Given the description of an element on the screen output the (x, y) to click on. 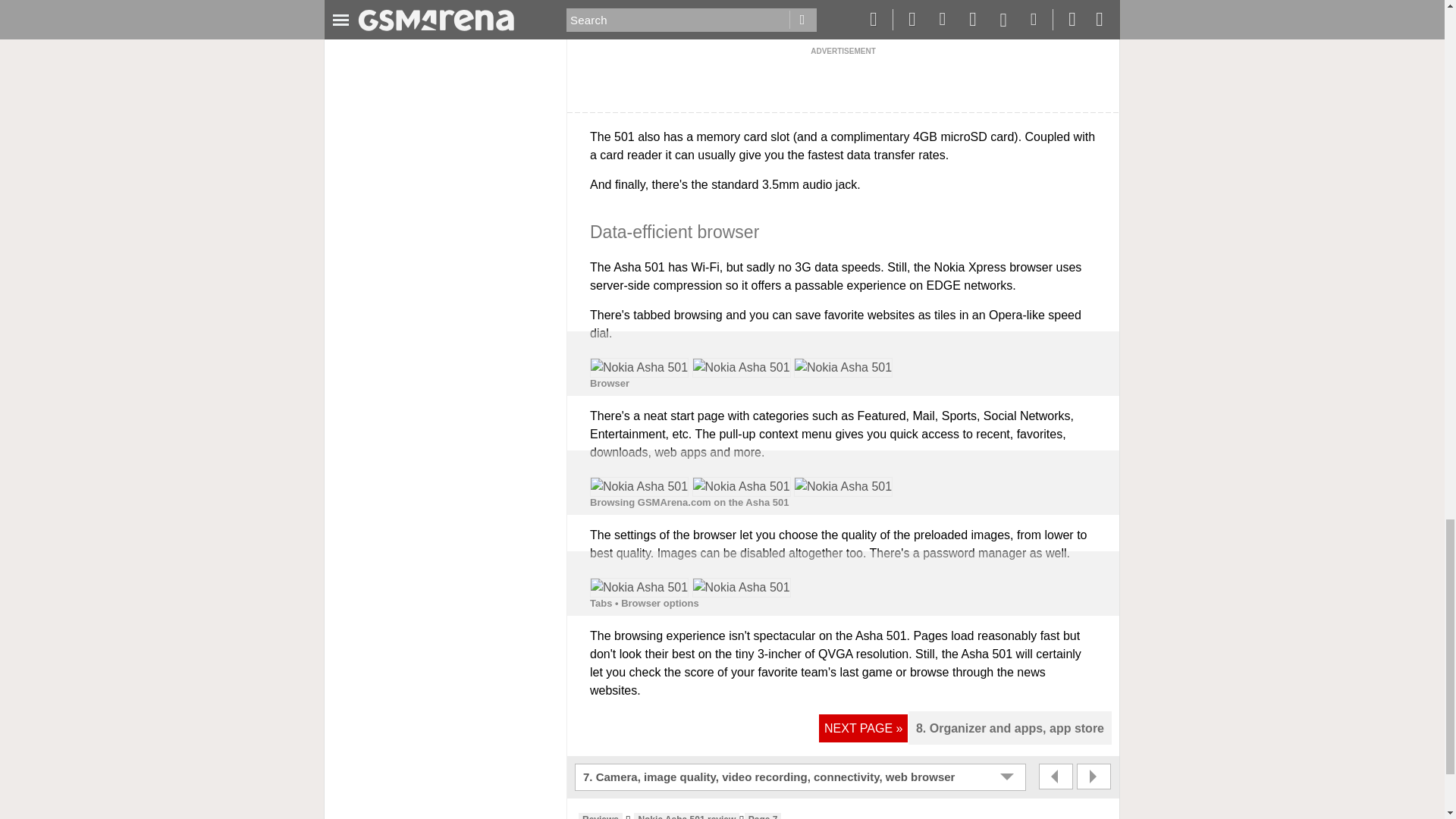
Next page (1093, 776)
Previous page (1056, 776)
